Given the description of an element on the screen output the (x, y) to click on. 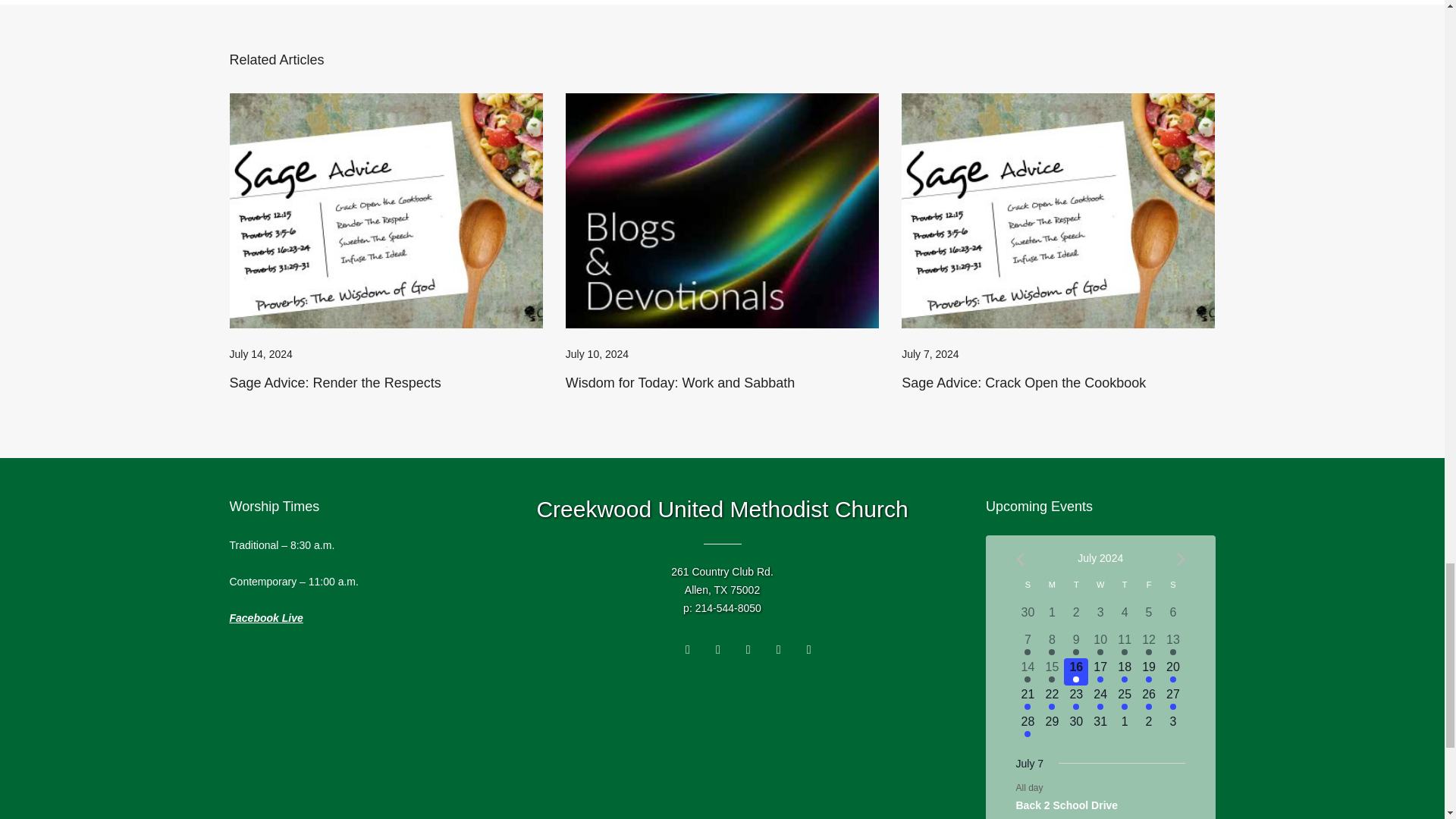
Has events (1075, 652)
Has events (1027, 679)
Has events (1173, 652)
Has events (1051, 652)
Has events (1100, 652)
Has events (1123, 652)
Has events (1148, 652)
Has events (1027, 652)
